Given the description of an element on the screen output the (x, y) to click on. 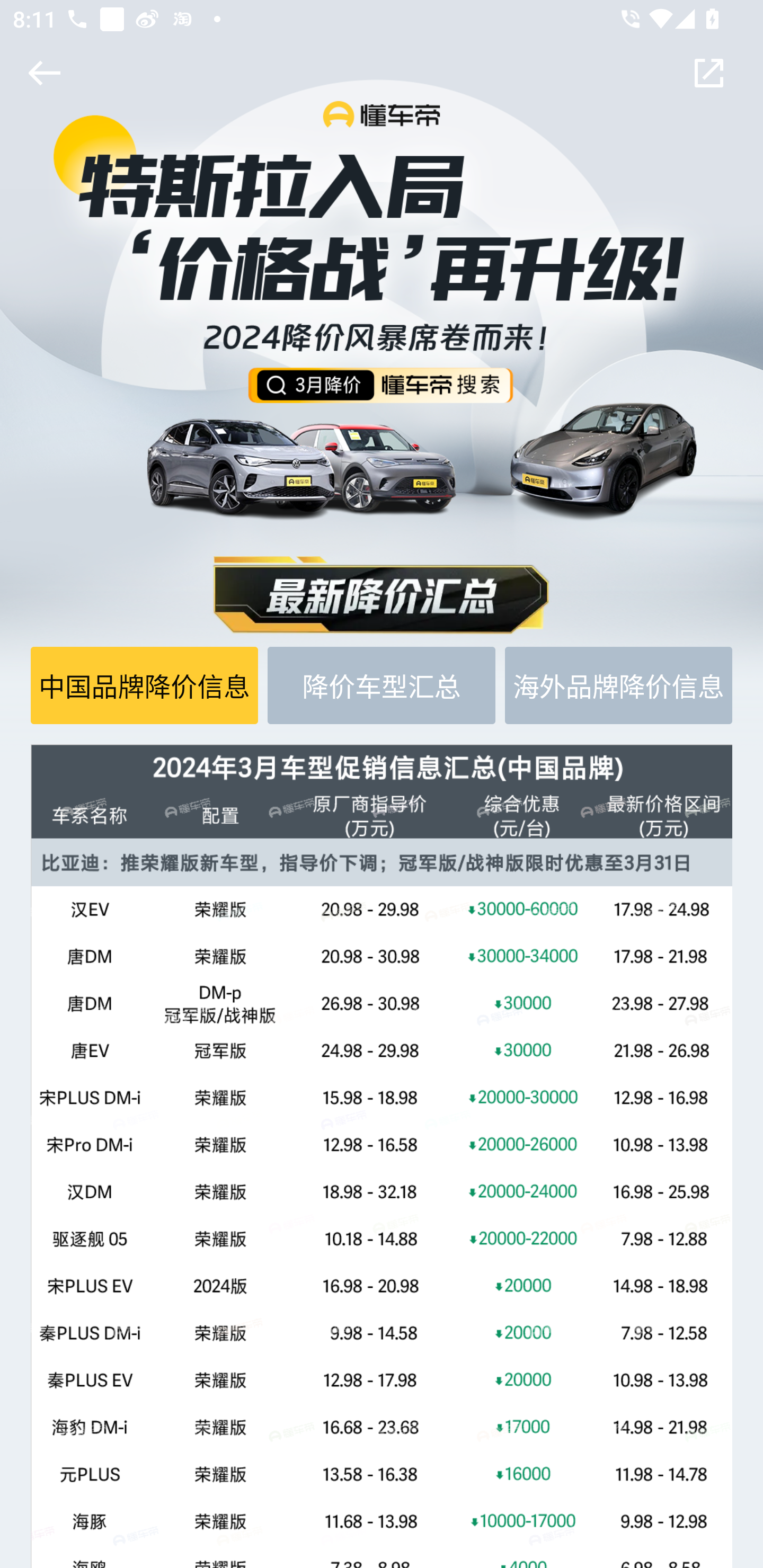
 (41, 72)
中国品牌降价信息 (144, 685)
降价车型汇总 (381, 685)
海外品牌降价信息 (617, 685)
